Given the description of an element on the screen output the (x, y) to click on. 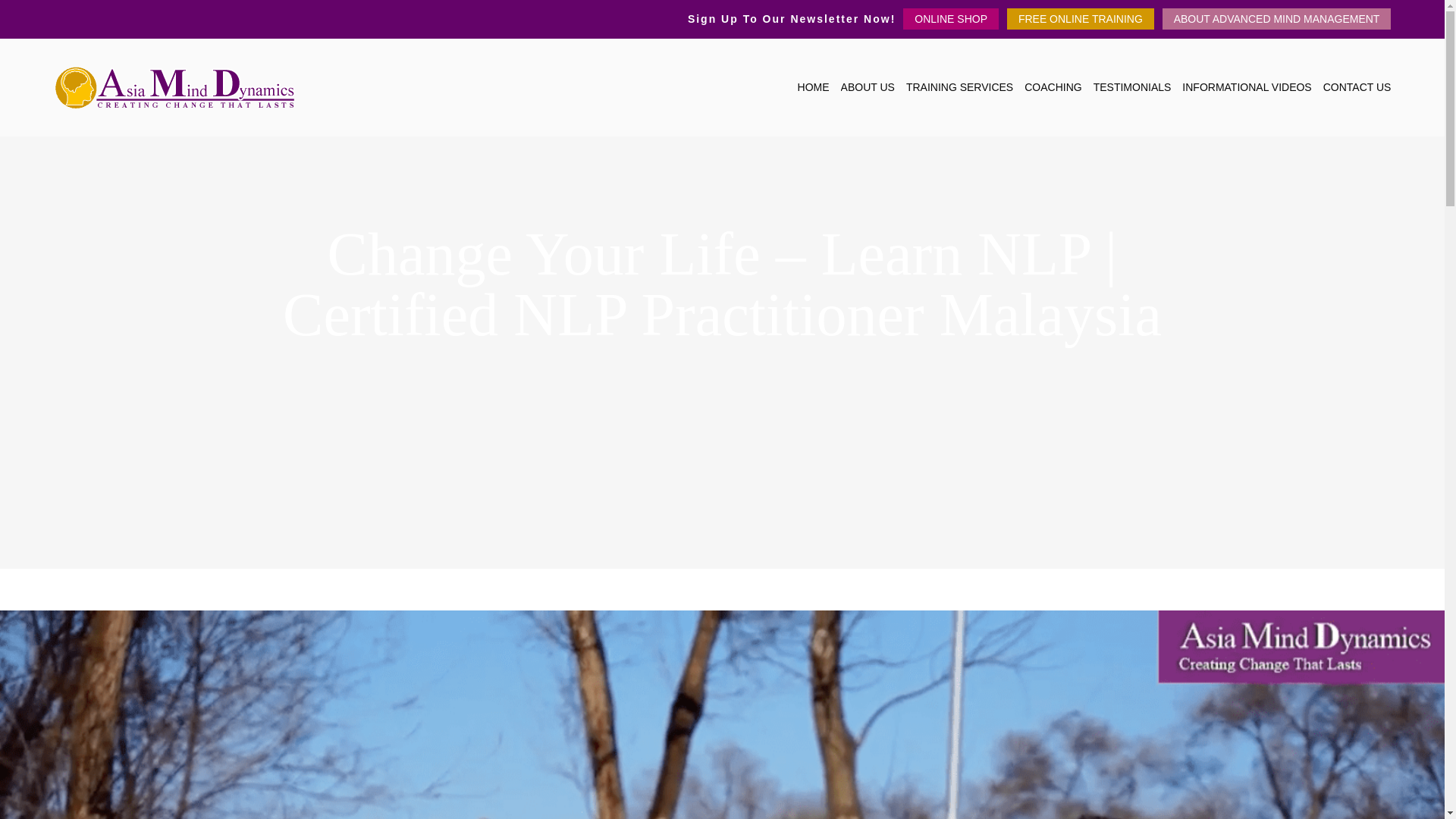
Sign Up To Our Newsletter Now! (791, 18)
ABOUT ADVANCED MIND MANAGEMENT (1276, 18)
TRAINING SERVICES (959, 86)
ONLINE SHOP (950, 18)
FREE ONLINE TRAINING (1080, 18)
INFORMATIONAL VIDEOS (1246, 86)
